Given the description of an element on the screen output the (x, y) to click on. 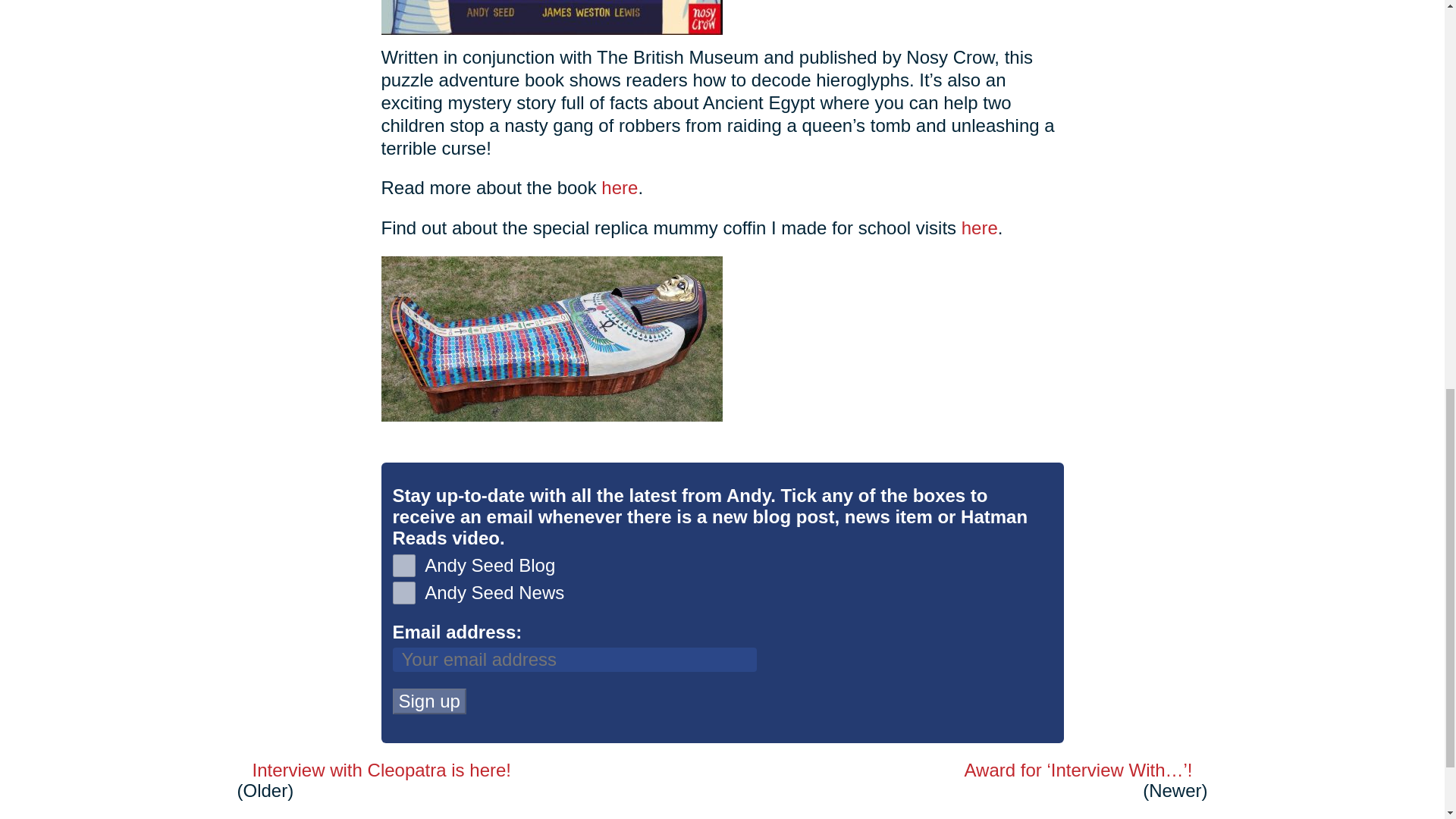
793ee899e7 (403, 565)
Sign up (429, 701)
Interview with Cleopatra is here! (453, 770)
Sign up (429, 701)
6f7949ee44 (403, 592)
here (619, 187)
here (978, 227)
